Given the description of an element on the screen output the (x, y) to click on. 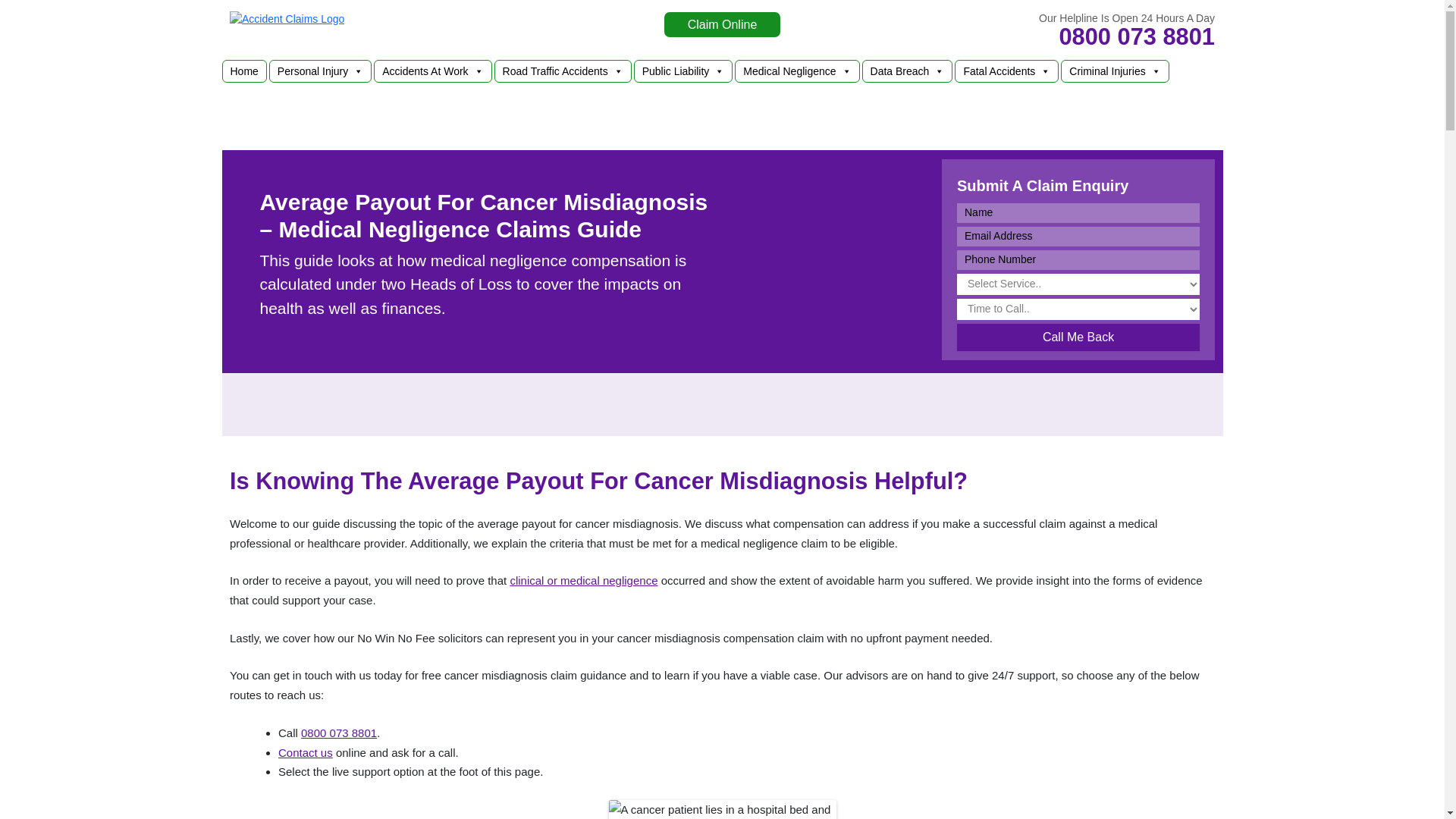
Call Me Back (1077, 337)
Claim Online (721, 24)
Accidents At Work (432, 70)
Personal Injury (320, 70)
Home (244, 70)
0800 073 8801 (1136, 36)
